Given the description of an element on the screen output the (x, y) to click on. 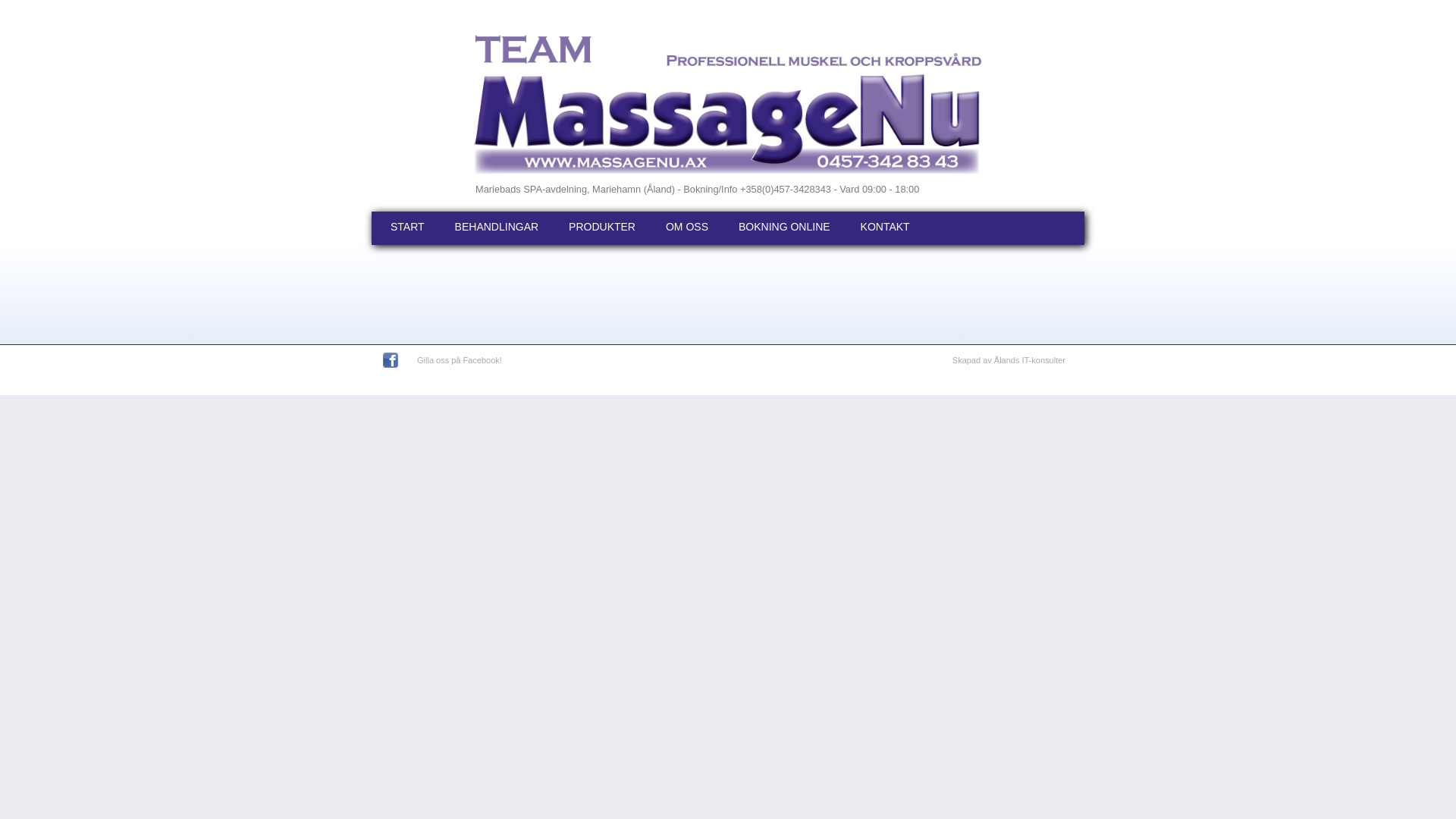
KONTAKT Element type: text (883, 226)
START Element type: text (409, 226)
Hem Element type: hover (718, 103)
OM OSS Element type: text (687, 226)
BEHANDLINGAR Element type: text (496, 226)
BOKNING ONLINE Element type: text (784, 226)
PRODUKTER Element type: text (601, 226)
